Given the description of an element on the screen output the (x, y) to click on. 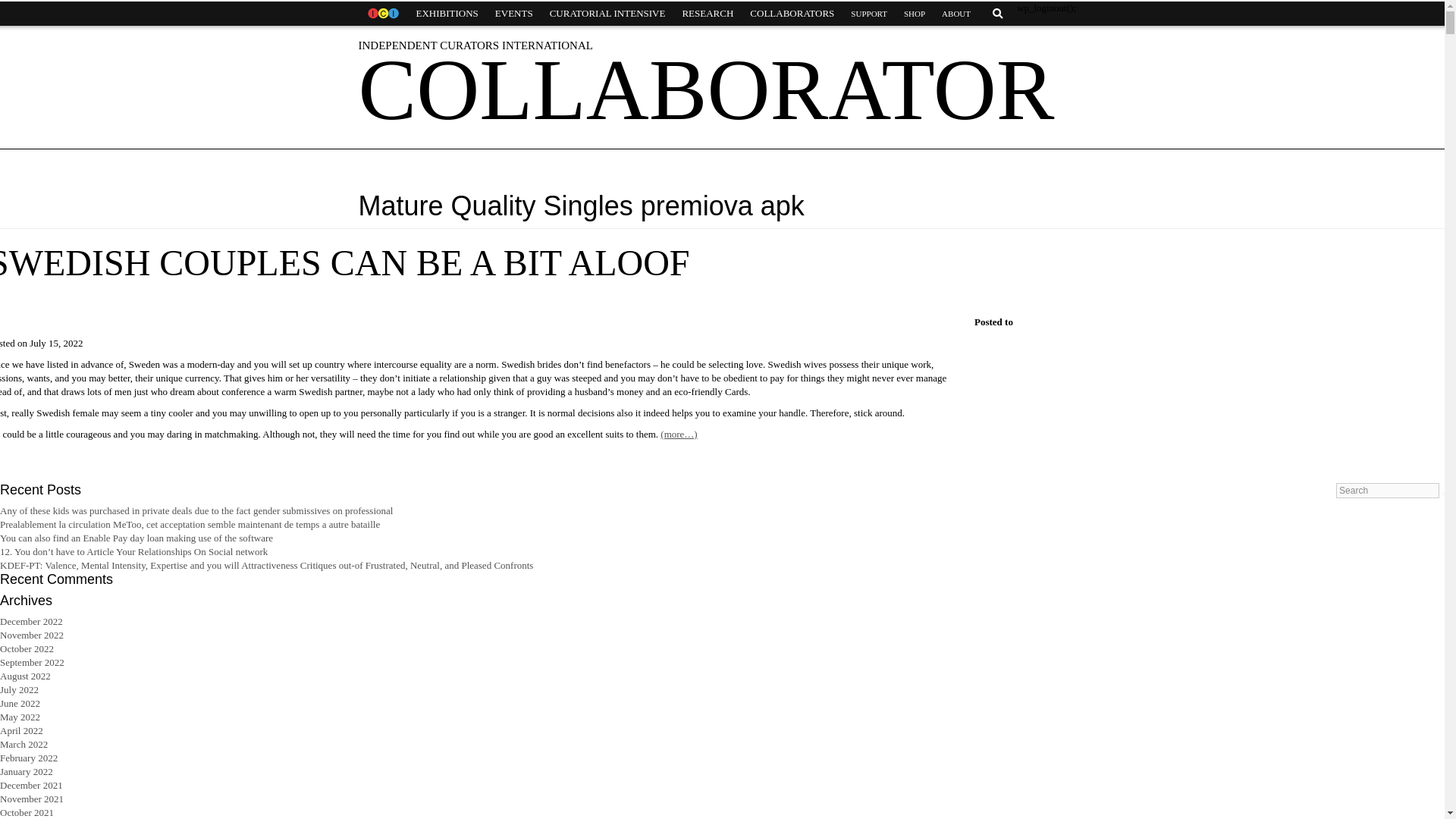
HOME (382, 13)
CURATORIAL INTENSIVE (607, 13)
RESEARCH (706, 13)
COLLABORATORS (792, 13)
EXHIBITIONS (446, 13)
EVENTS (513, 13)
